Given the description of an element on the screen output the (x, y) to click on. 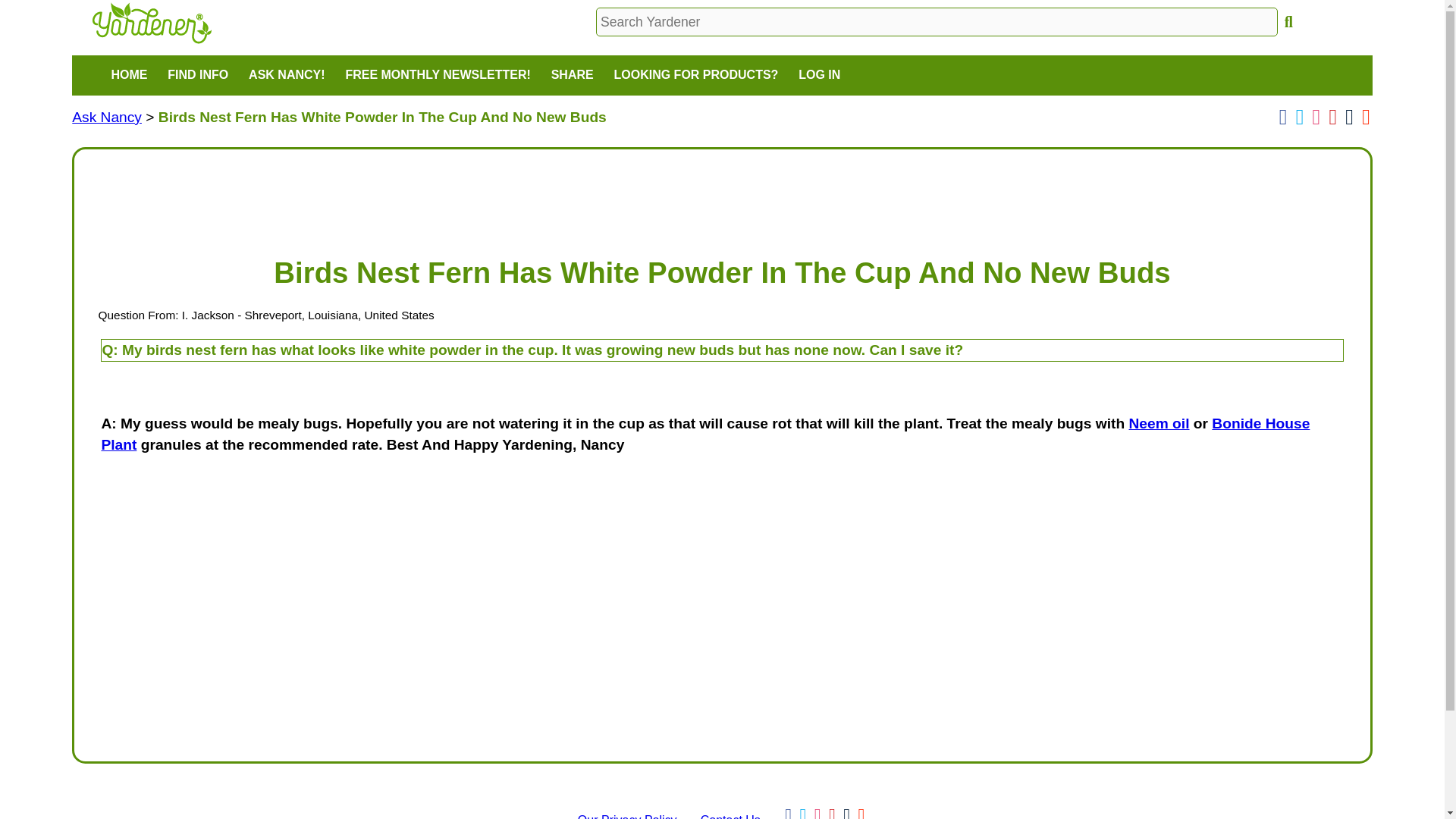
Get Professional Advice For Your Yardening Questions (106, 116)
Neem oil (1159, 423)
ASK NANCY! (286, 75)
FREE MONTHLY NEWSLETTER! (437, 75)
FIND INFO (196, 75)
Our Privacy Policy (627, 816)
SHARE (571, 75)
Bonide House Plant (704, 434)
